Given the description of an element on the screen output the (x, y) to click on. 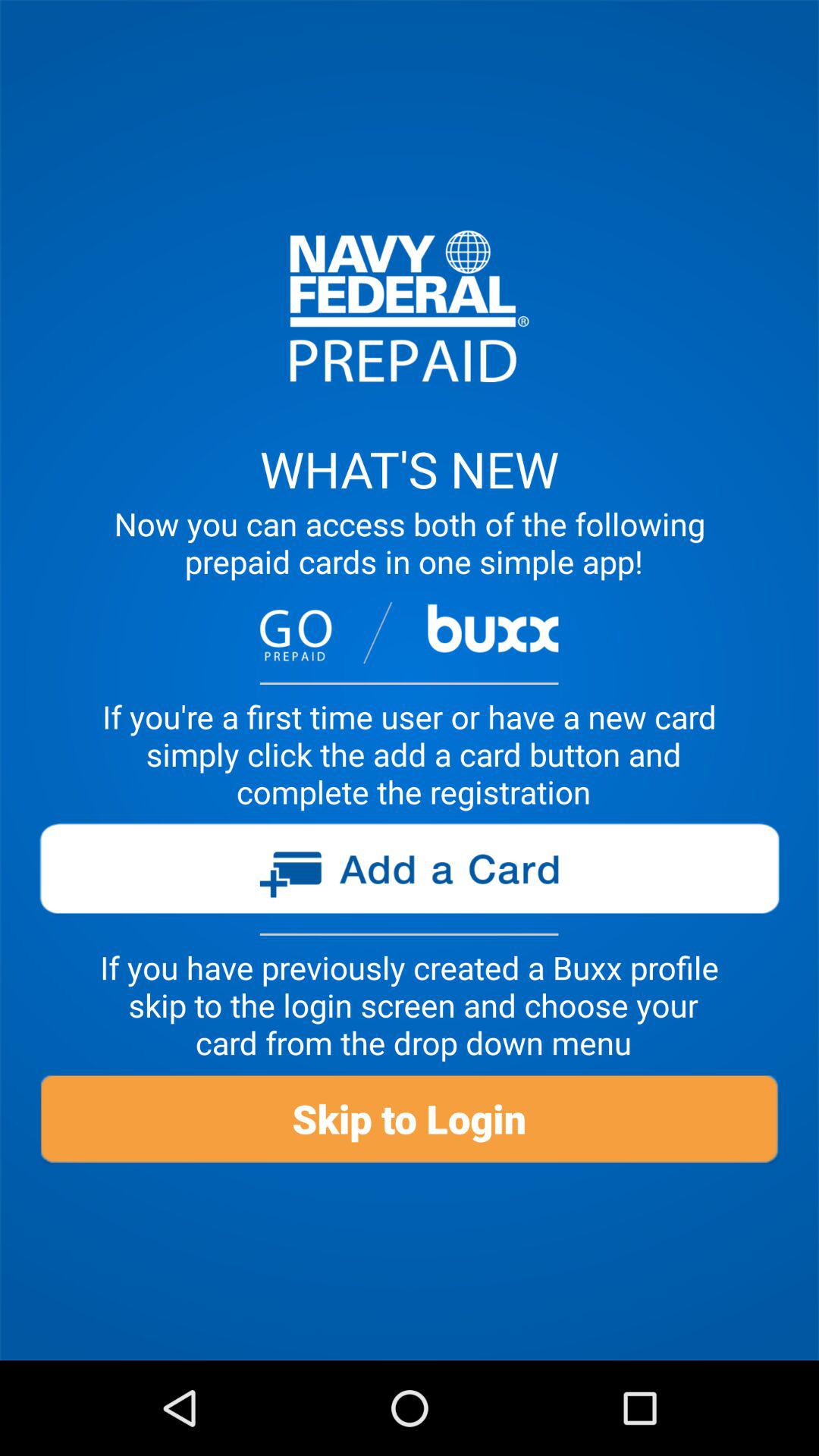
add a card (408, 874)
